Given the description of an element on the screen output the (x, y) to click on. 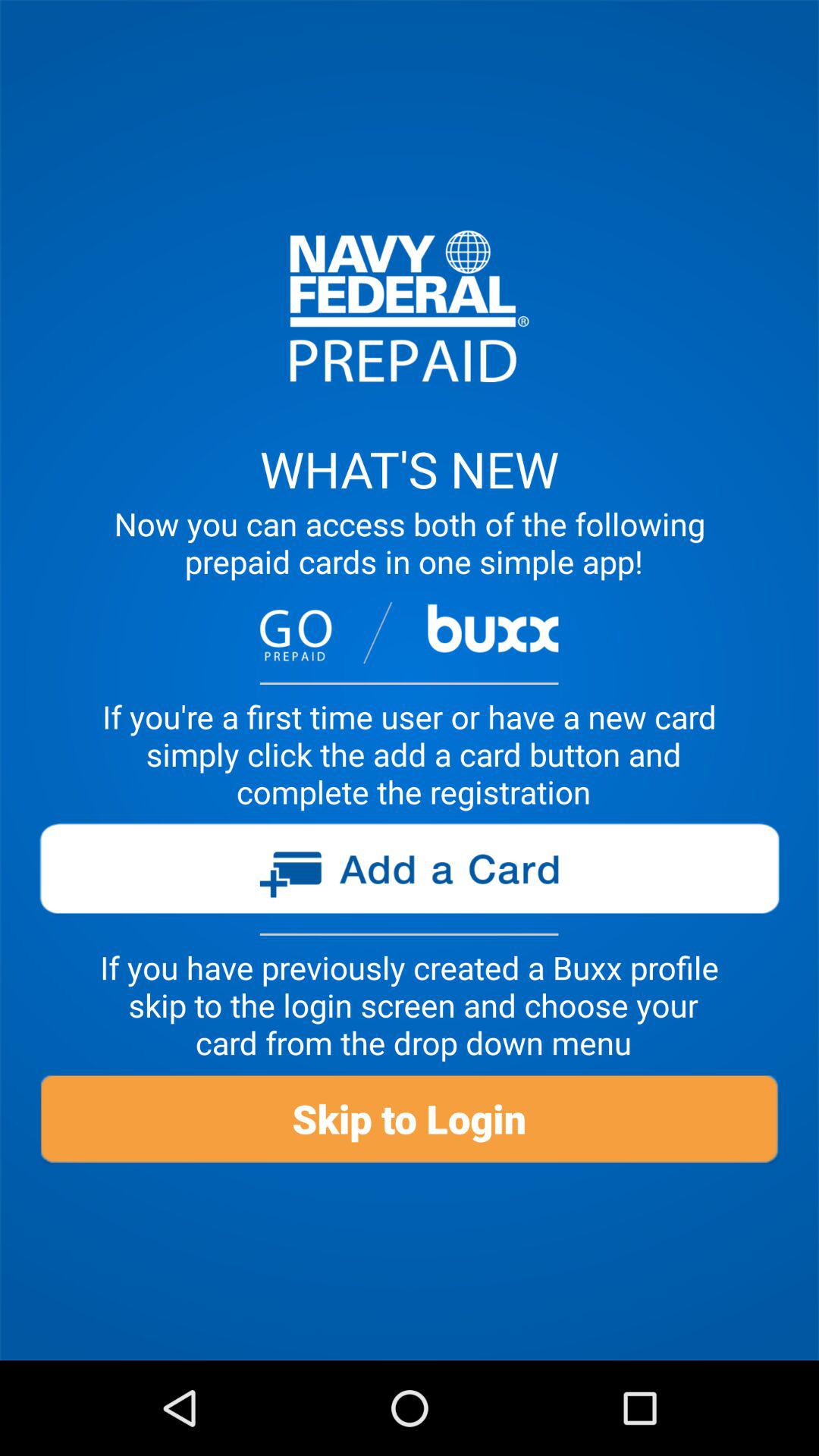
add a card (408, 874)
